Given the description of an element on the screen output the (x, y) to click on. 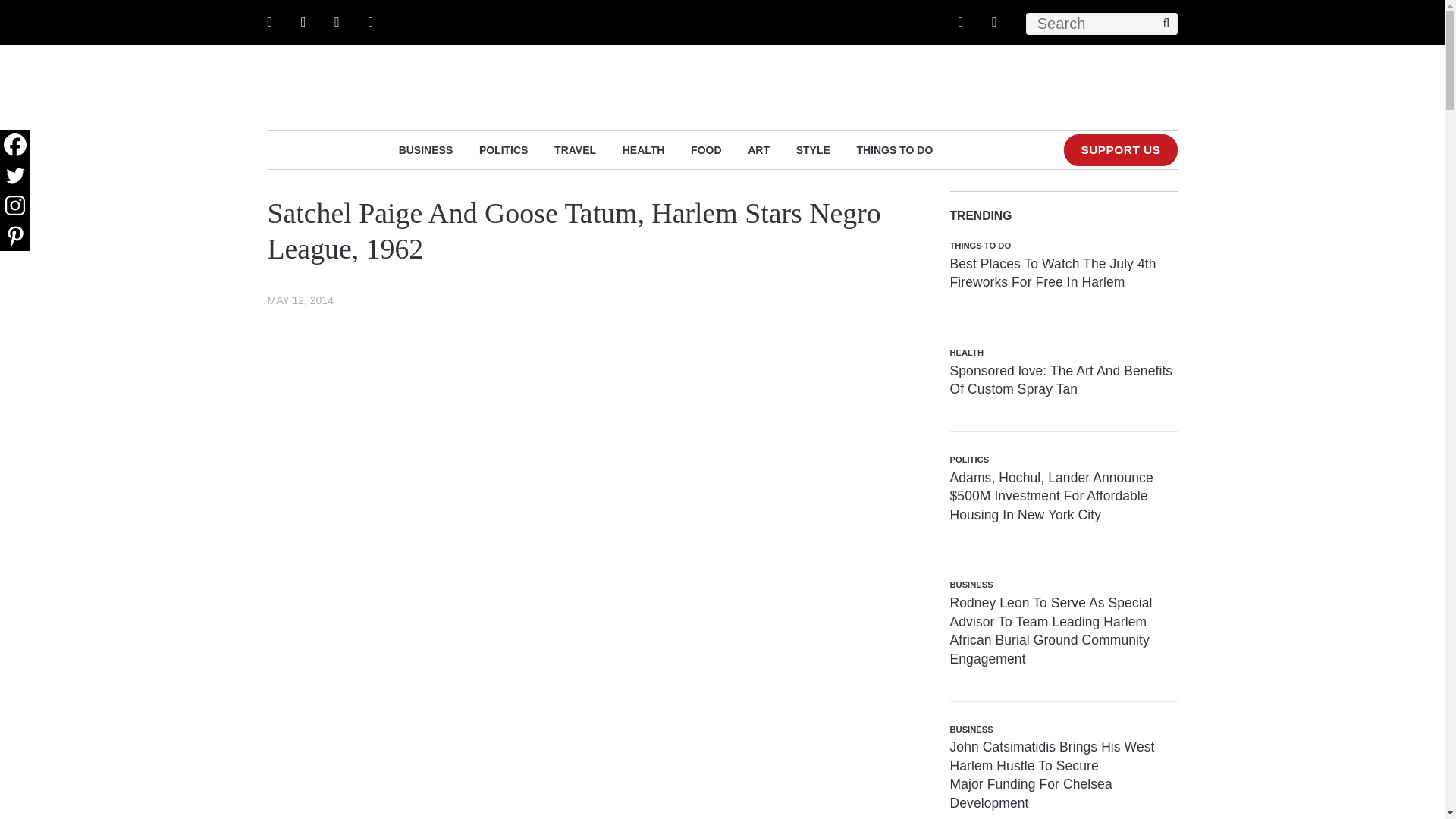
HEALTH (644, 149)
POLITICS (503, 149)
Pinterest (15, 235)
Facebook (15, 144)
BUSINESS (425, 149)
Instagram (15, 205)
Twitter (15, 174)
SUPPORT US (1120, 150)
TRAVEL (574, 149)
THINGS TO DO (894, 149)
STYLE (812, 149)
